Given the description of an element on the screen output the (x, y) to click on. 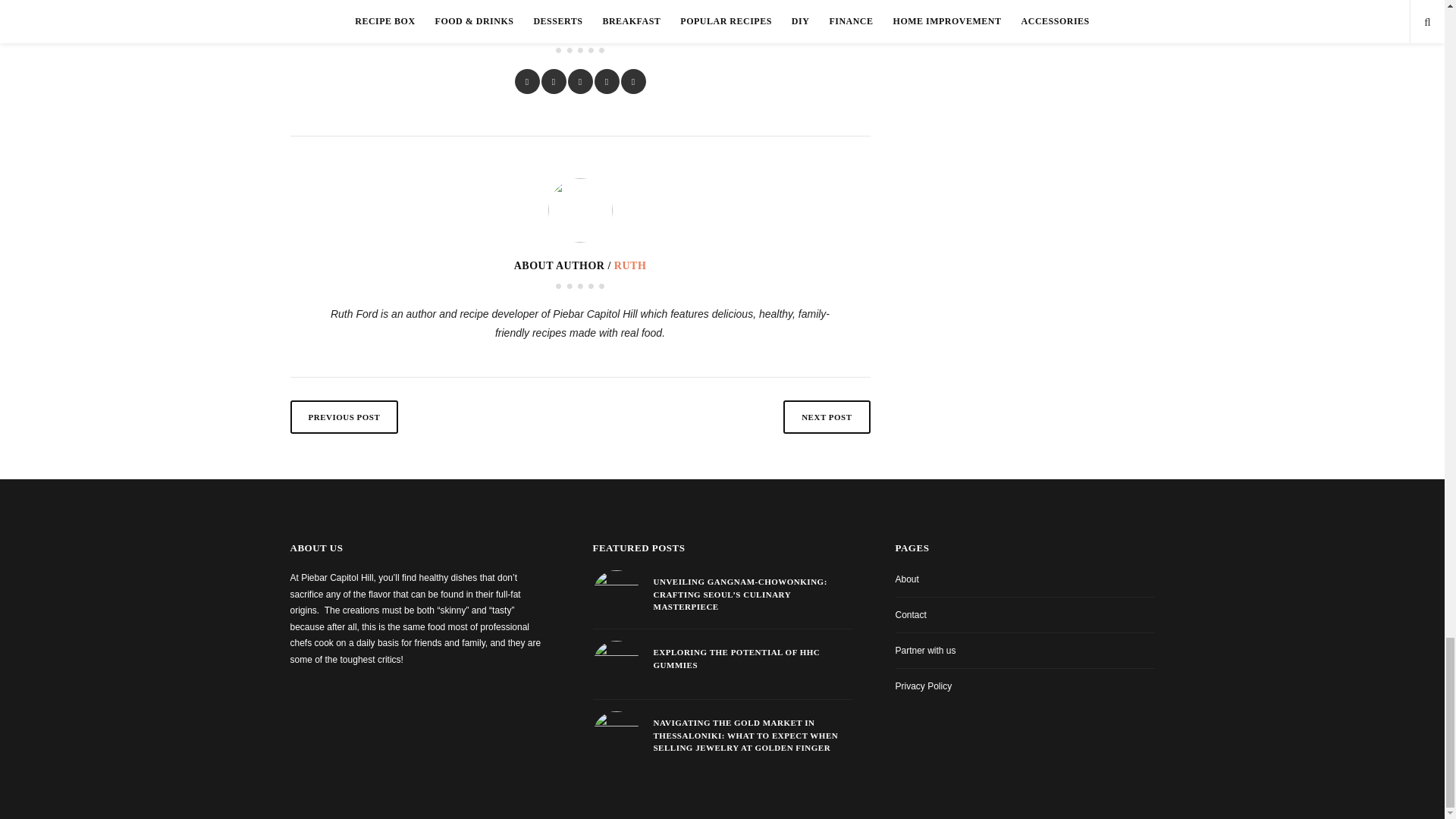
NEXT POST (826, 417)
Posts by Ruth (630, 265)
PREVIOUS POST (343, 417)
RUTH (630, 265)
